Given the description of an element on the screen output the (x, y) to click on. 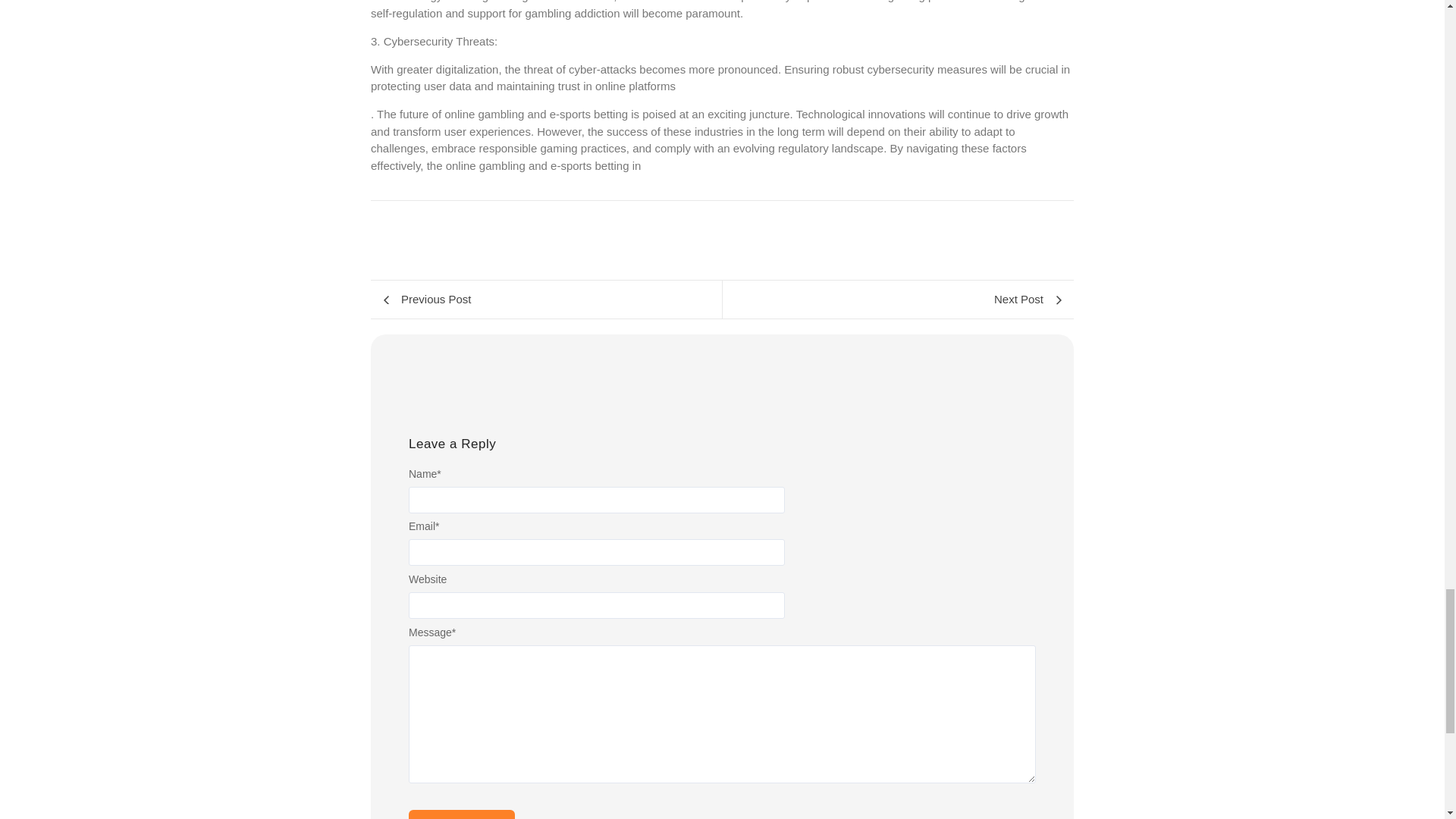
Previous Post (546, 299)
Next Post (898, 299)
Submit (462, 814)
Submit (462, 814)
